Given the description of an element on the screen output the (x, y) to click on. 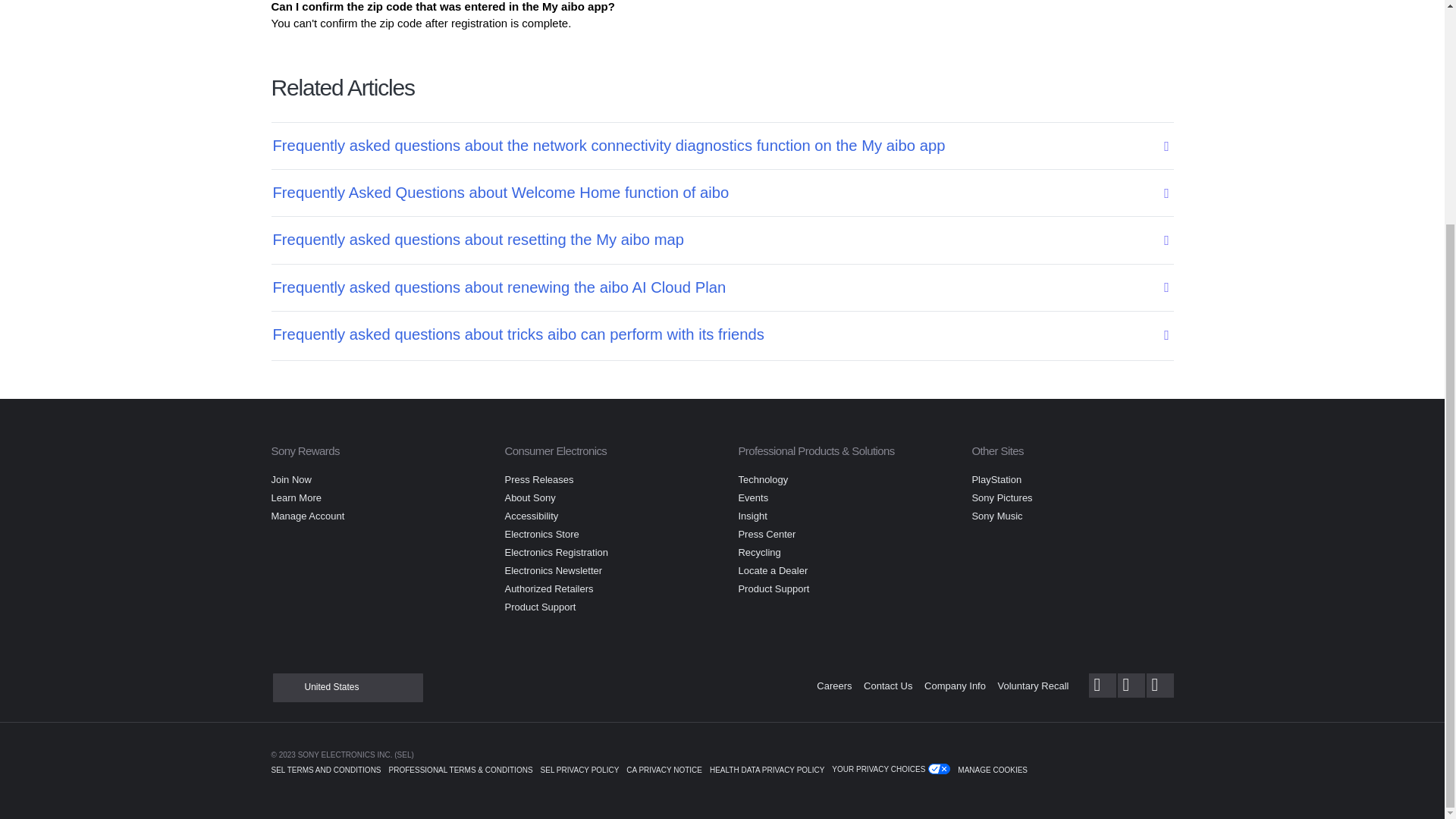
Learn More (295, 497)
Manage Account (307, 515)
Electronics Store (540, 533)
Electronics Registration (555, 552)
Press Releases (538, 479)
Join Now (290, 479)
Accessibility (530, 515)
